Given the description of an element on the screen output the (x, y) to click on. 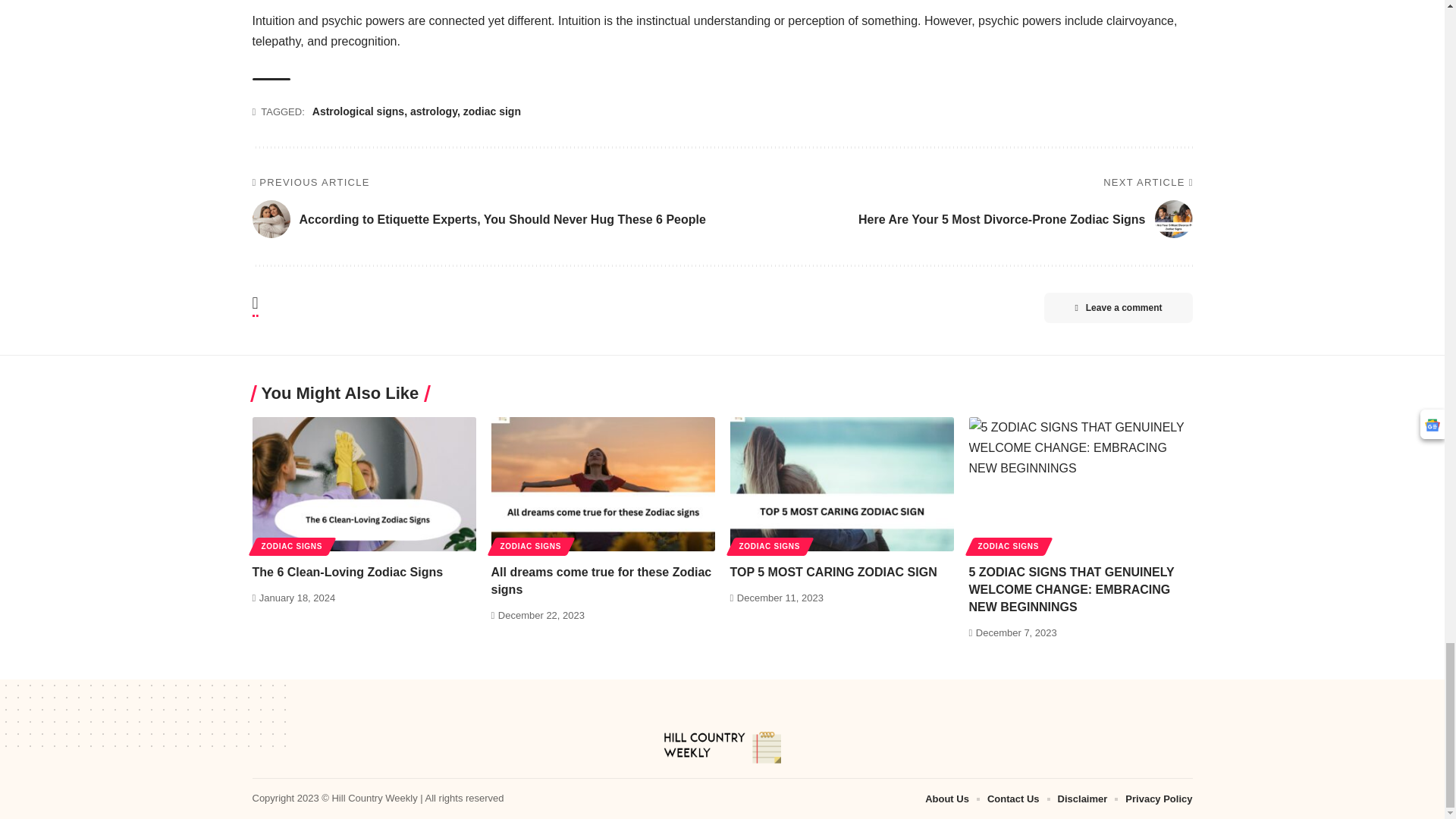
Hill Country Weekly (721, 747)
All dreams come true for these Zodiac signs (603, 483)
The 6 Clean-Loving Zodiac Signs (363, 483)
TOP 5 MOST CARING ZODIAC SIGN (841, 483)
